Given the description of an element on the screen output the (x, y) to click on. 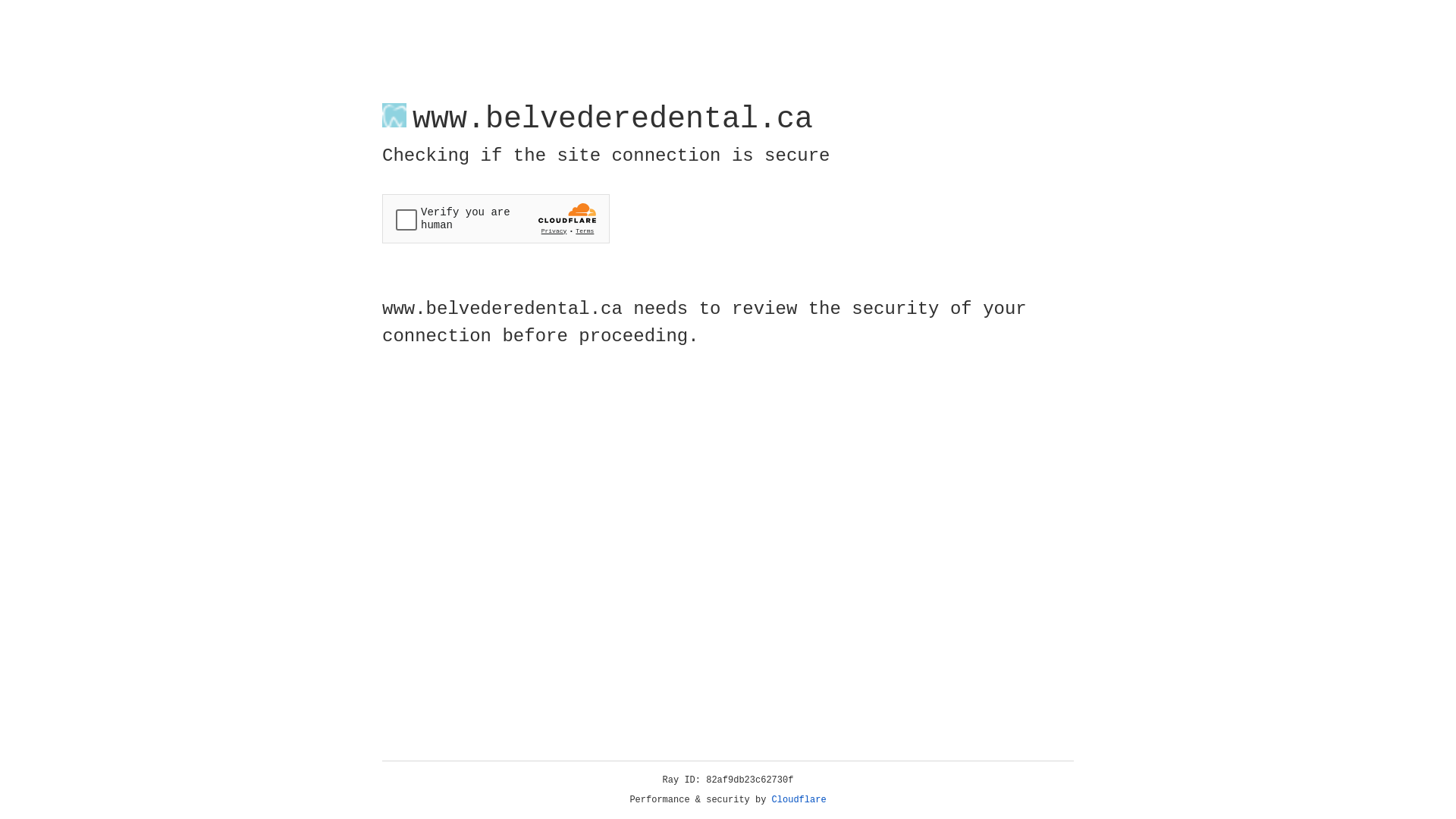
Cloudflare Element type: text (798, 799)
Widget containing a Cloudflare security challenge Element type: hover (495, 218)
